Given the description of an element on the screen output the (x, y) to click on. 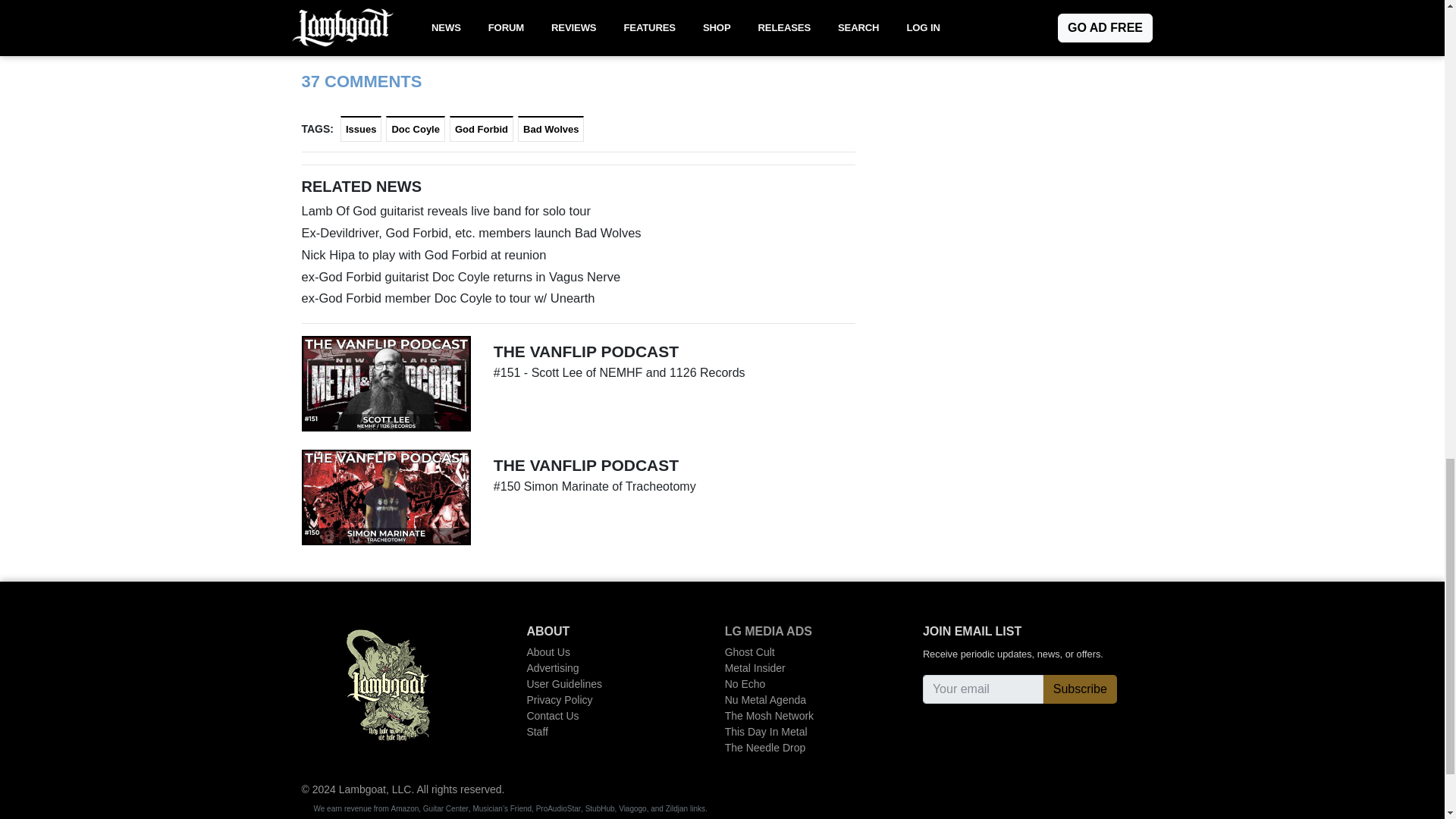
Issues (360, 129)
Subscribe (1079, 688)
Lamb Of God guitarist reveals live band for solo tour (578, 210)
ex-God Forbid guitarist Doc Coyle returns in Vagus Nerve (578, 276)
Nick Hipa to play with God Forbid at reunion (578, 254)
God Forbid (481, 129)
Bad Wolves (550, 129)
37 COMMENTS (361, 81)
Doc Coyle (415, 129)
Ex-Devildriver, God Forbid, etc. members launch Bad Wolves (578, 232)
